Given the description of an element on the screen output the (x, y) to click on. 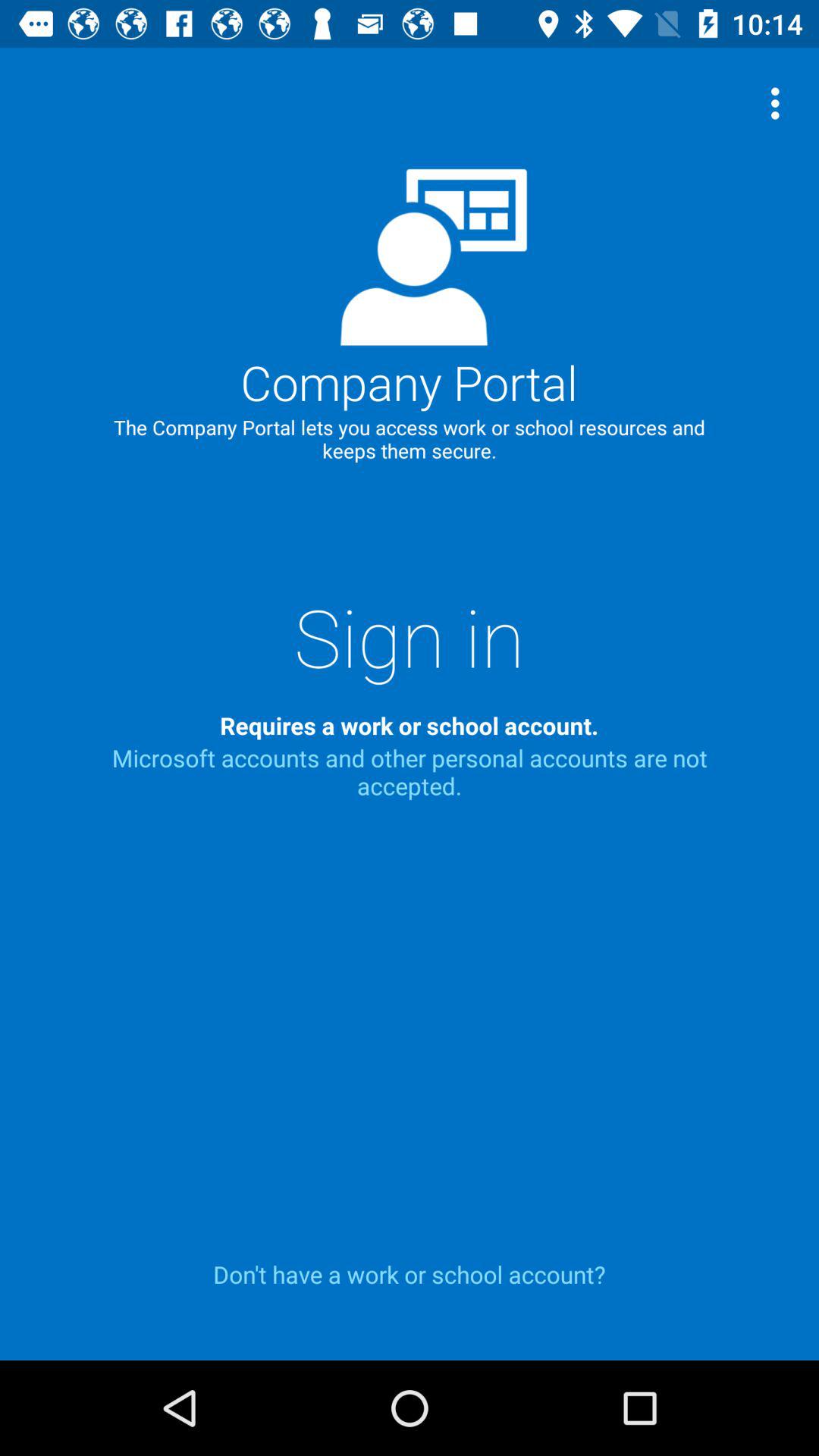
flip until the don t have icon (409, 1274)
